Given the description of an element on the screen output the (x, y) to click on. 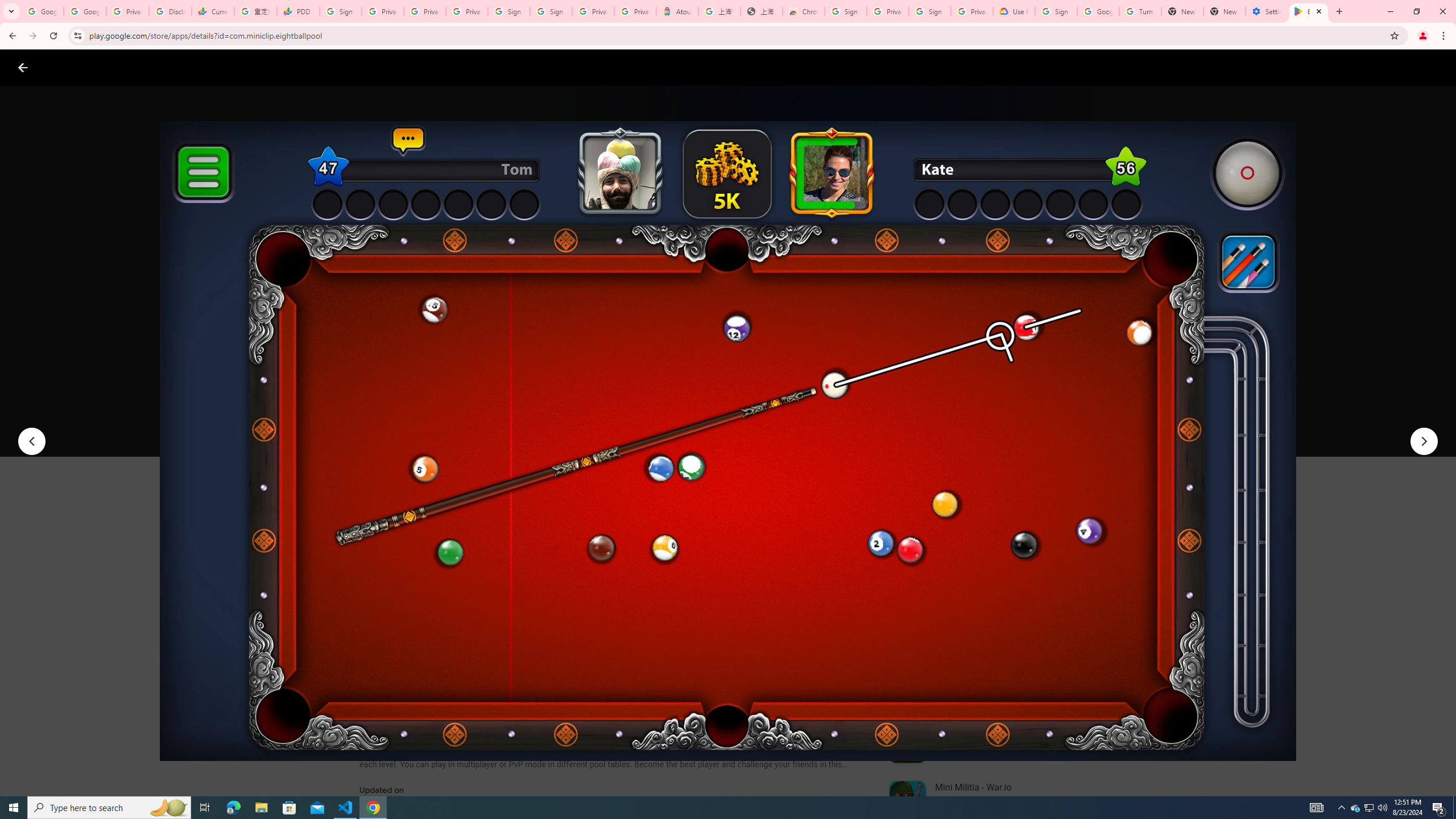
Sign in - Google Accounts (1055, 11)
Content rating (553, 373)
Atour Hotel - Google hotels (676, 11)
Play trailer (1062, 423)
Next (1424, 441)
Google Workspace Admin Community (42, 11)
Miniclip.com (386, 333)
Sign in - Google Accounts (550, 11)
Help Center (1409, 67)
